Given the description of an element on the screen output the (x, y) to click on. 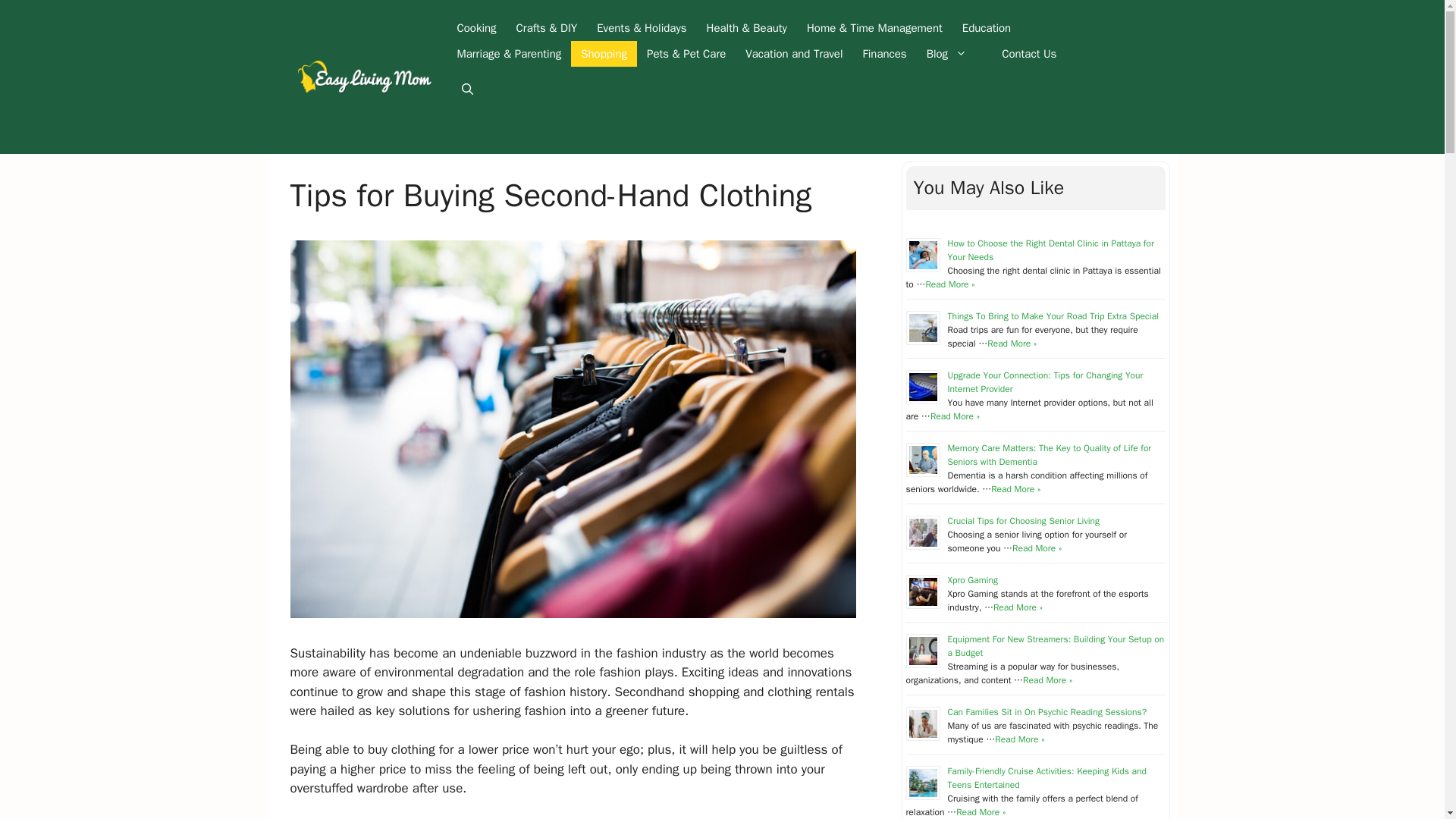
Education (986, 27)
Shopping (603, 53)
Cooking (475, 27)
Blog (954, 53)
Finances (885, 53)
Vacation and Travel (793, 53)
